Given the description of an element on the screen output the (x, y) to click on. 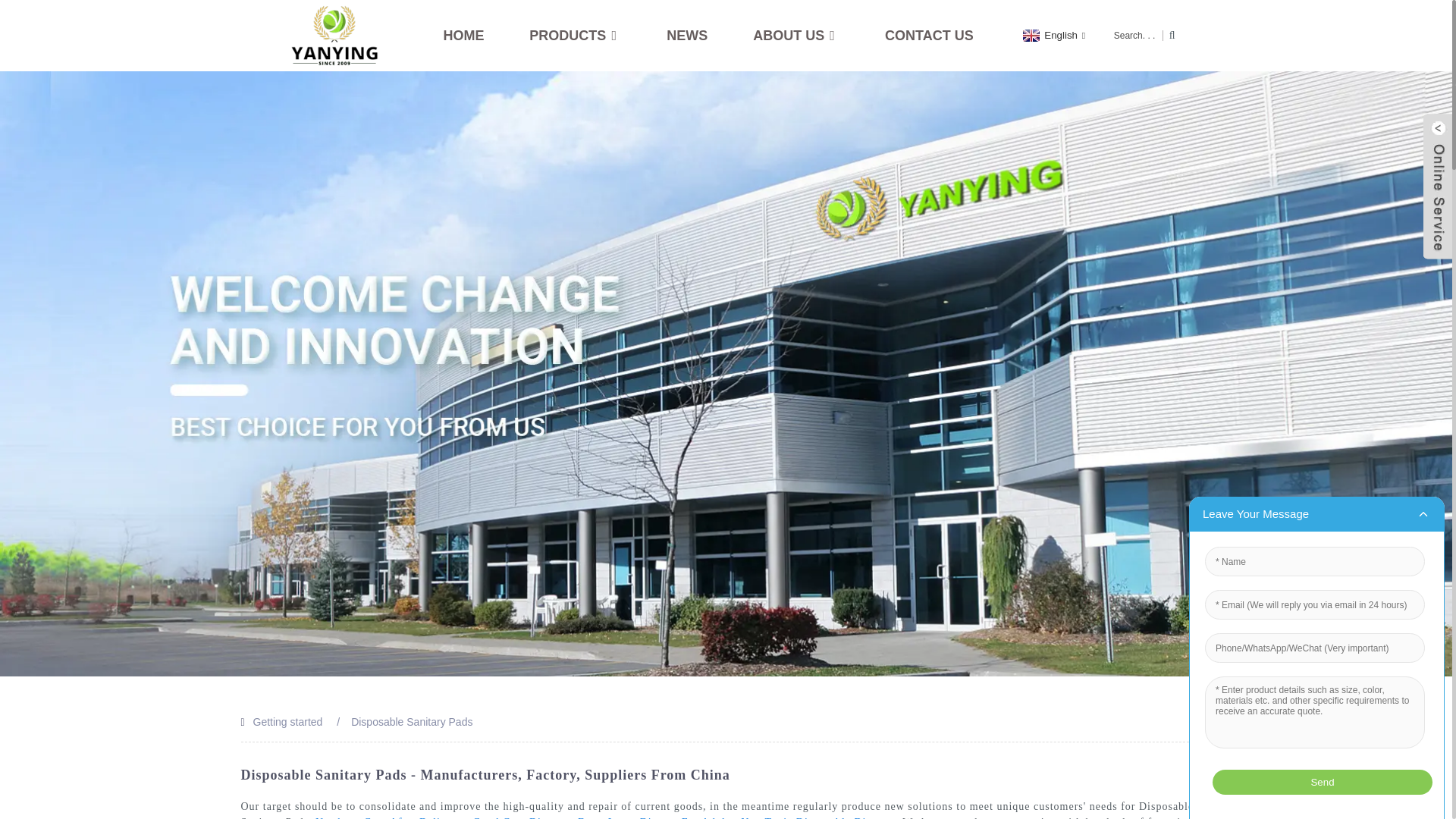
Good Care Diapers (519, 817)
Newborn Care After Delivery (389, 817)
CONTACT US (929, 35)
Disposable Sanitary Pads (410, 721)
Getting started (288, 721)
Extra Large Diapers For Adults (655, 817)
Good Care Diapers (519, 817)
Extra Large Diapers For Adults (655, 817)
Newborn Care After Delivery (389, 817)
PRODUCTS (575, 35)
ABOUT US (796, 35)
English (1051, 34)
Non Toxic Disposable Diapers (816, 817)
